Given the description of an element on the screen output the (x, y) to click on. 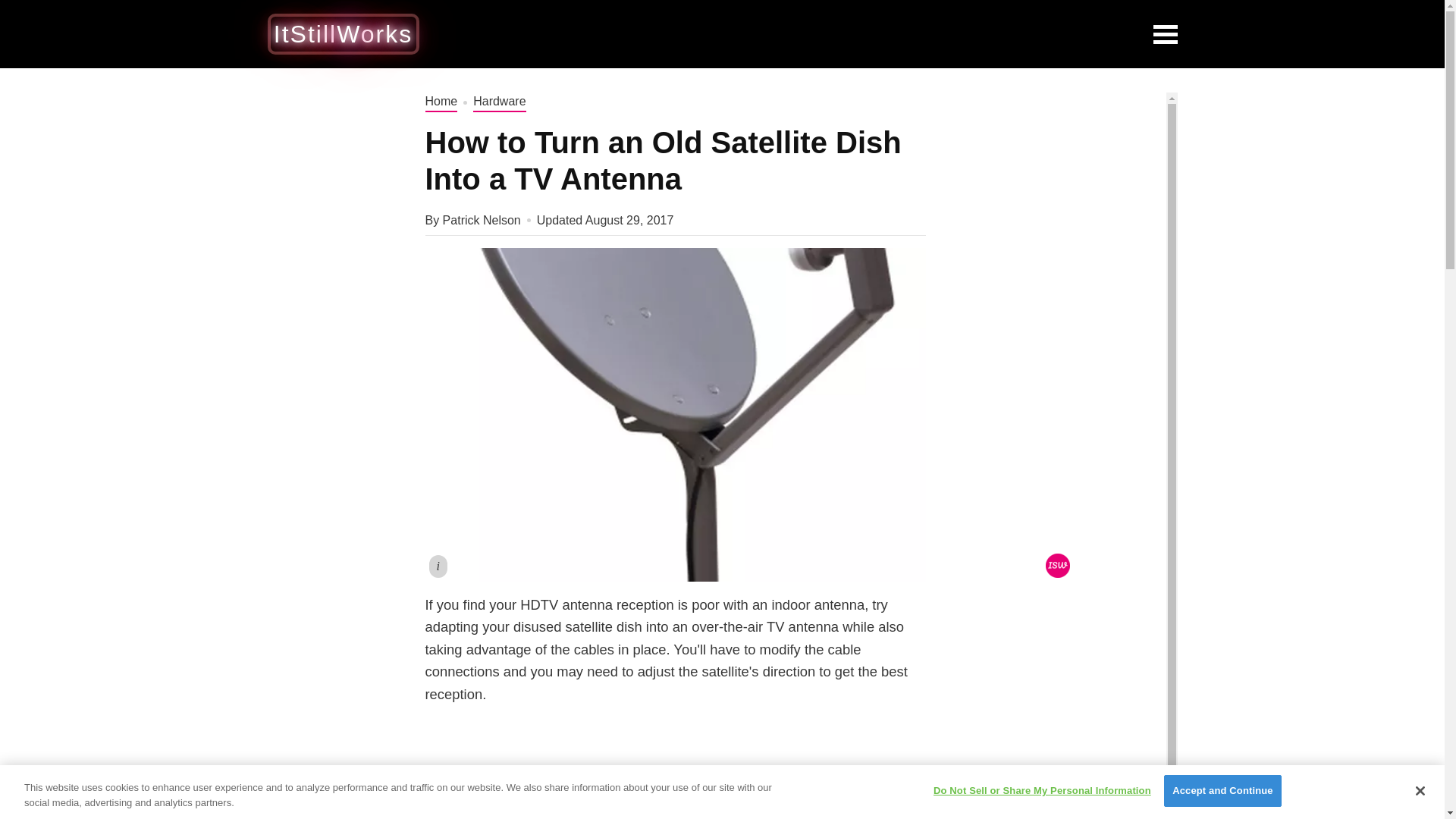
Hardware (499, 102)
Home (441, 102)
3rd party ad content (1062, 186)
3rd party ad content (674, 774)
3rd party ad content (1062, 678)
ItStillWorks (342, 33)
3rd party ad content (785, 33)
Accept and Continue (1222, 790)
Do Not Sell or Share My Personal Information (1042, 790)
